Given the description of an element on the screen output the (x, y) to click on. 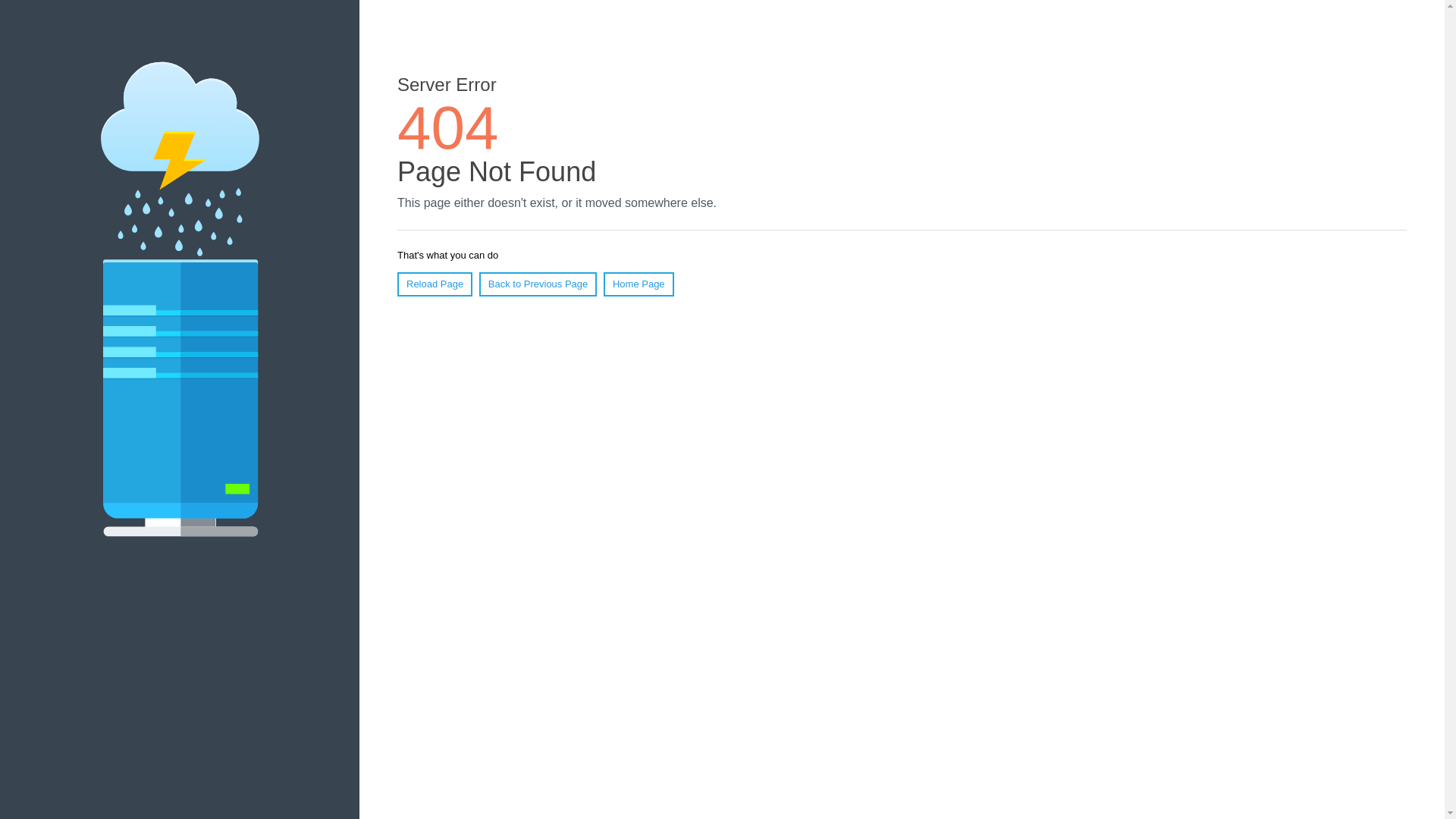
Home Page Element type: text (638, 284)
Reload Page Element type: text (434, 284)
Back to Previous Page Element type: text (538, 284)
